Given the description of an element on the screen output the (x, y) to click on. 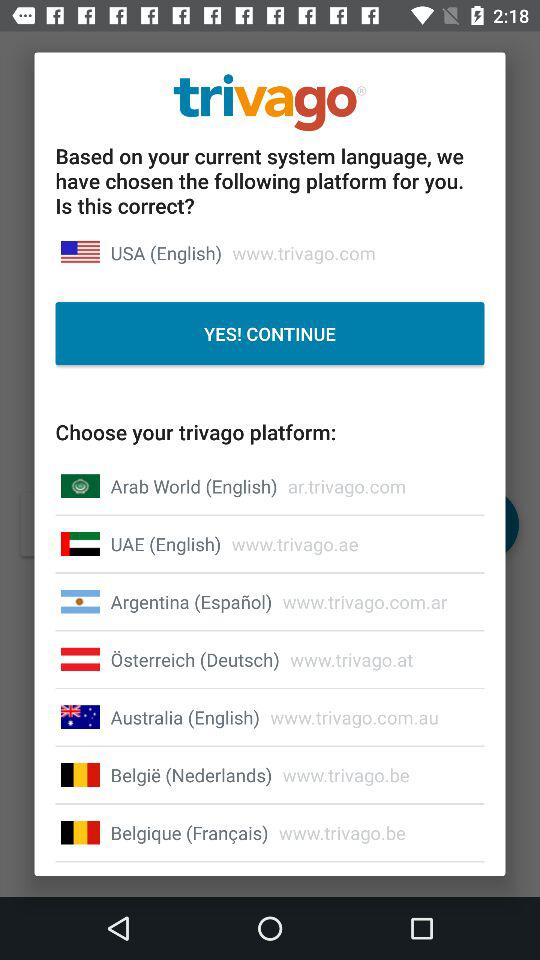
turn on icon below based on your item (166, 252)
